Given the description of an element on the screen output the (x, y) to click on. 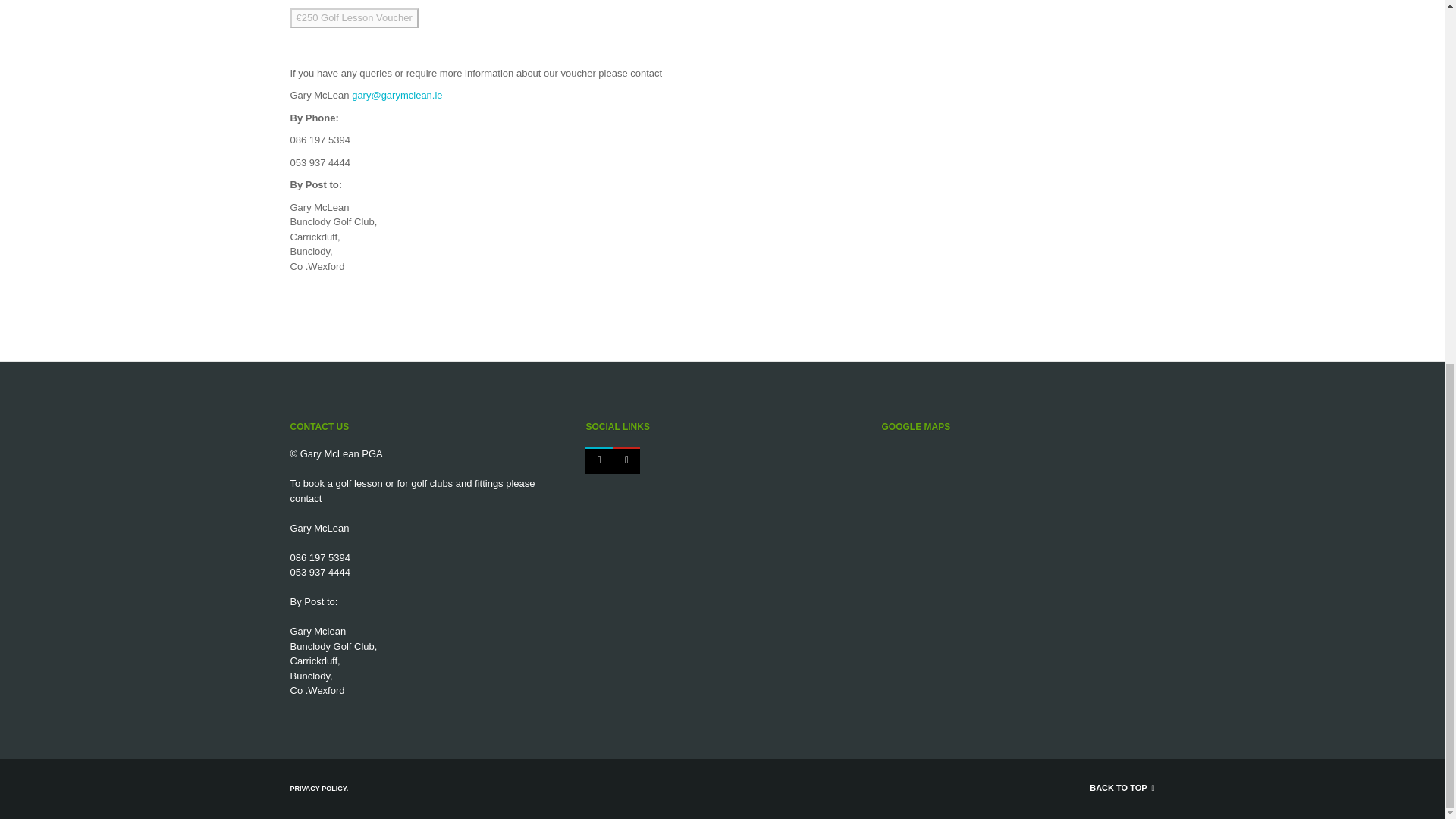
PRIVACY POLICY (317, 788)
